Given the description of an element on the screen output the (x, y) to click on. 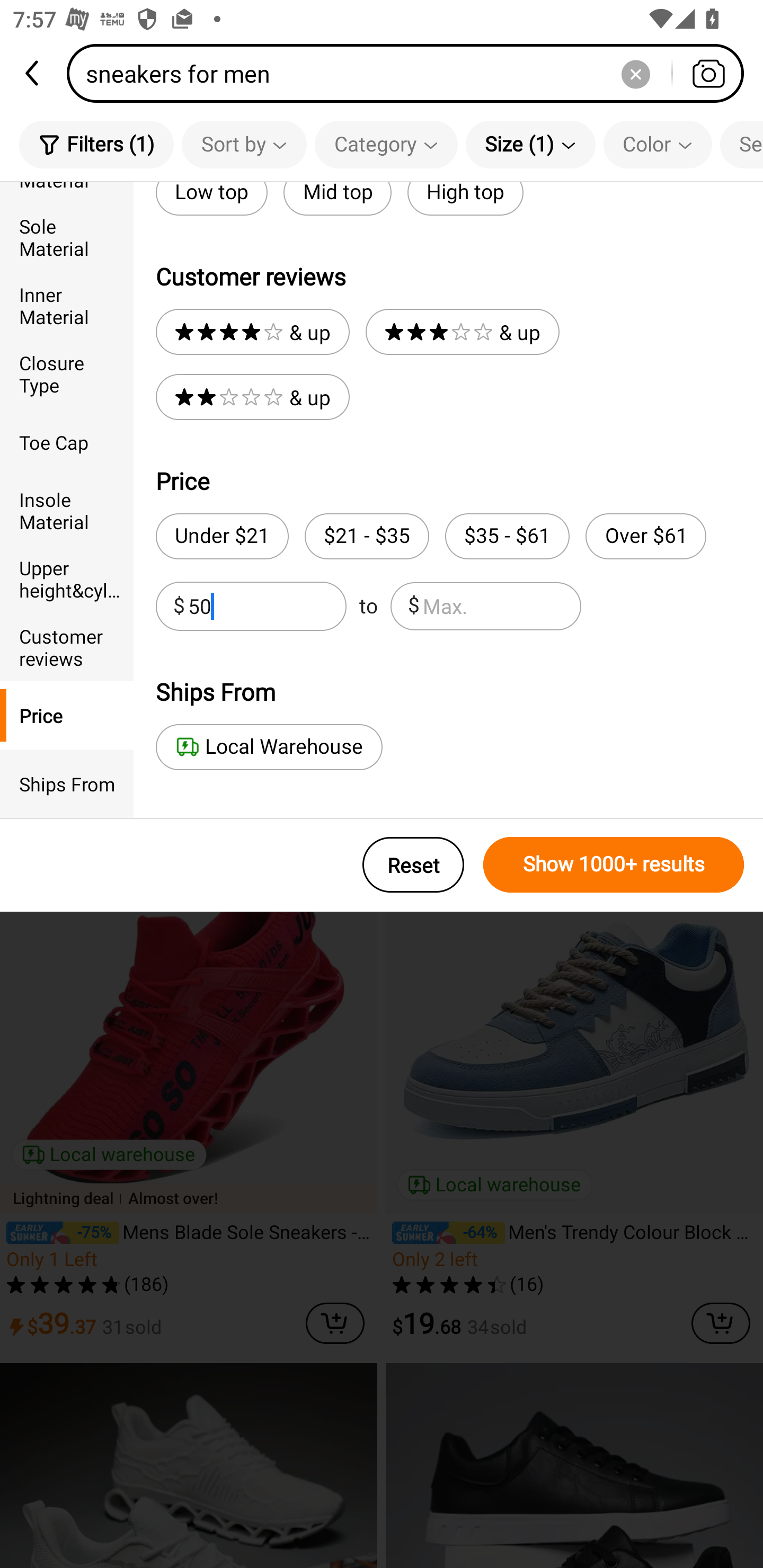
back (33, 72)
sneakers for men (411, 73)
Delete search history (635, 73)
Search by photo (708, 73)
Filters (1) (96, 143)
Sort by (243, 143)
Category (385, 143)
Size (1) (530, 143)
Color (657, 143)
Low top (211, 198)
Mid top (337, 198)
High top (465, 198)
Sole Material (66, 236)
Inner Material (66, 305)
& up (252, 331)
& up (462, 331)
Closure Type (66, 373)
& up (252, 397)
Toe Cap (66, 441)
Insole Material (66, 510)
Under $21 (221, 535)
$21 - $35 (366, 535)
$35 - $61 (506, 535)
Over $61 (645, 535)
Upper height&cylinder height (66, 578)
$ 50 to $ Max. (368, 605)
Customer reviews (66, 646)
Price (66, 714)
Local Warehouse (268, 746)
Ships From (66, 783)
Reset (412, 864)
Show 1000+ results (612, 864)
